Given the description of an element on the screen output the (x, y) to click on. 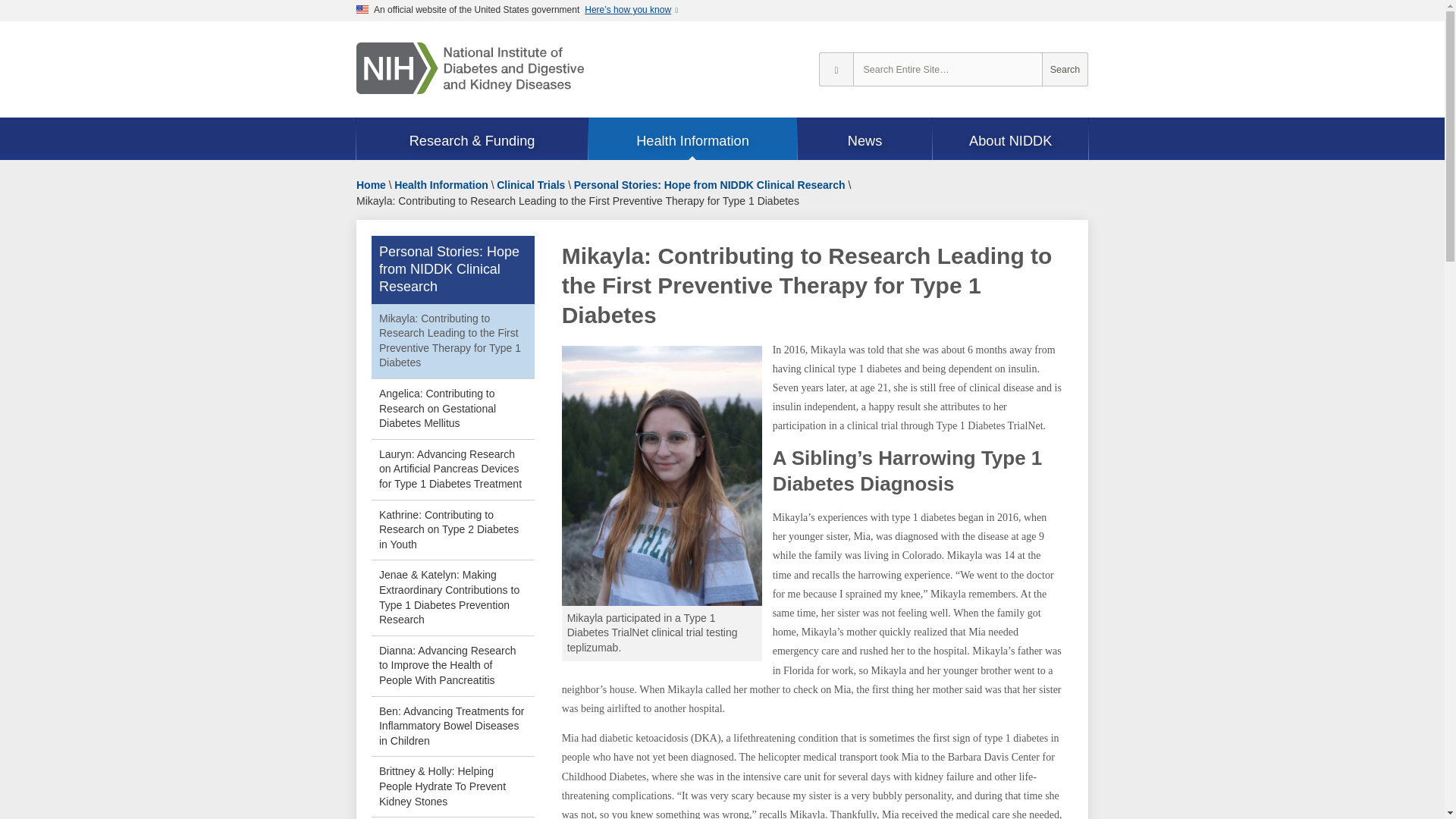
Health Information (692, 139)
News (865, 139)
Change search scope (835, 69)
Search (1064, 69)
Search Entire Site (1064, 69)
